Given the description of an element on the screen output the (x, y) to click on. 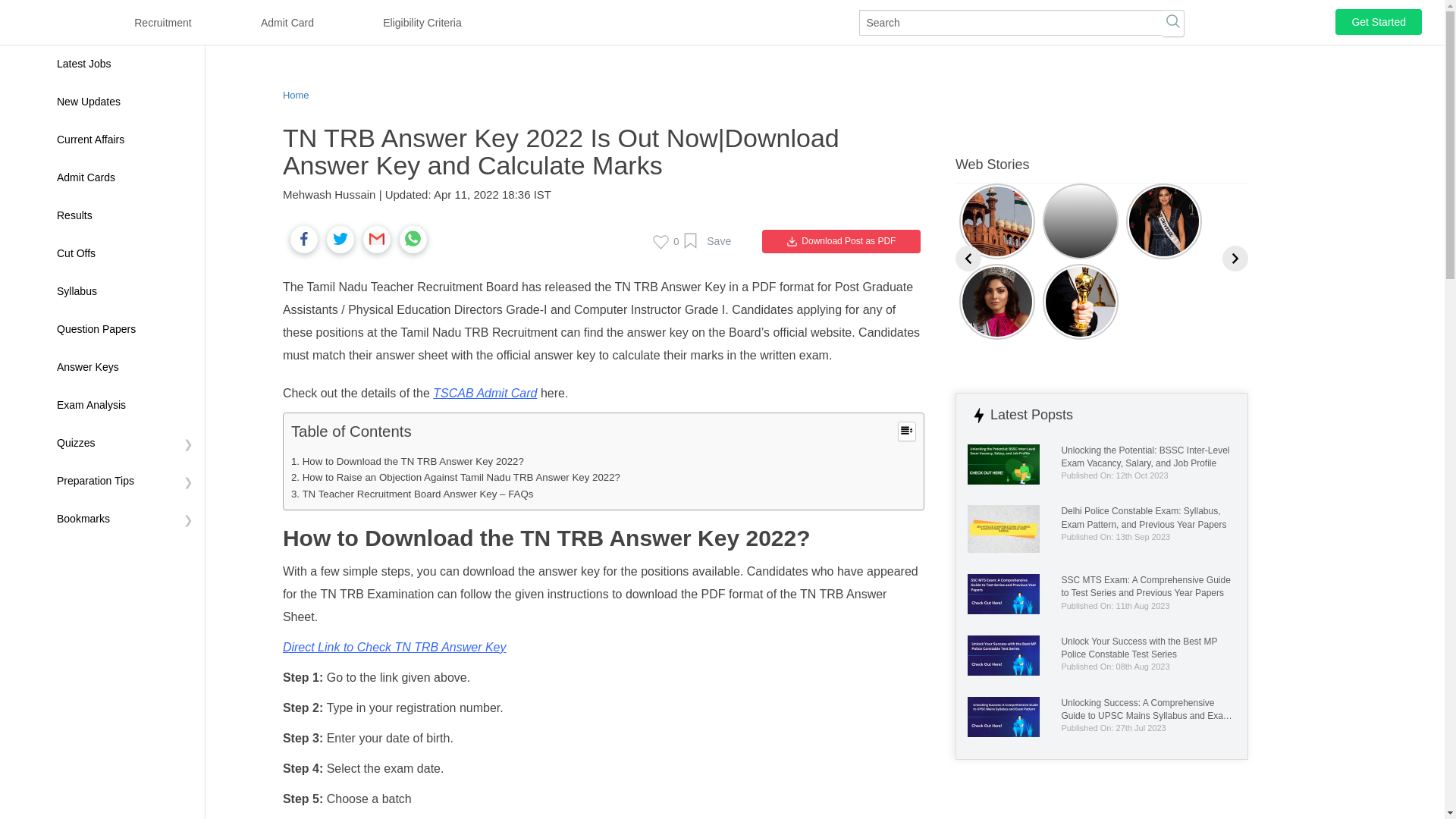
Answer Keys (125, 367)
Get Started (1378, 22)
Syllabus (125, 291)
Cut Offs (125, 253)
Exam Analysis (125, 405)
Latest Jobs (125, 64)
Admit Cards (125, 177)
Home (295, 94)
Current Affairs (125, 139)
Go to Home. (295, 94)
Recruitment (167, 22)
Eligibility Criteria (427, 22)
Quizzes (125, 443)
New Updates (125, 102)
Question Papers (125, 329)
